Given the description of an element on the screen output the (x, y) to click on. 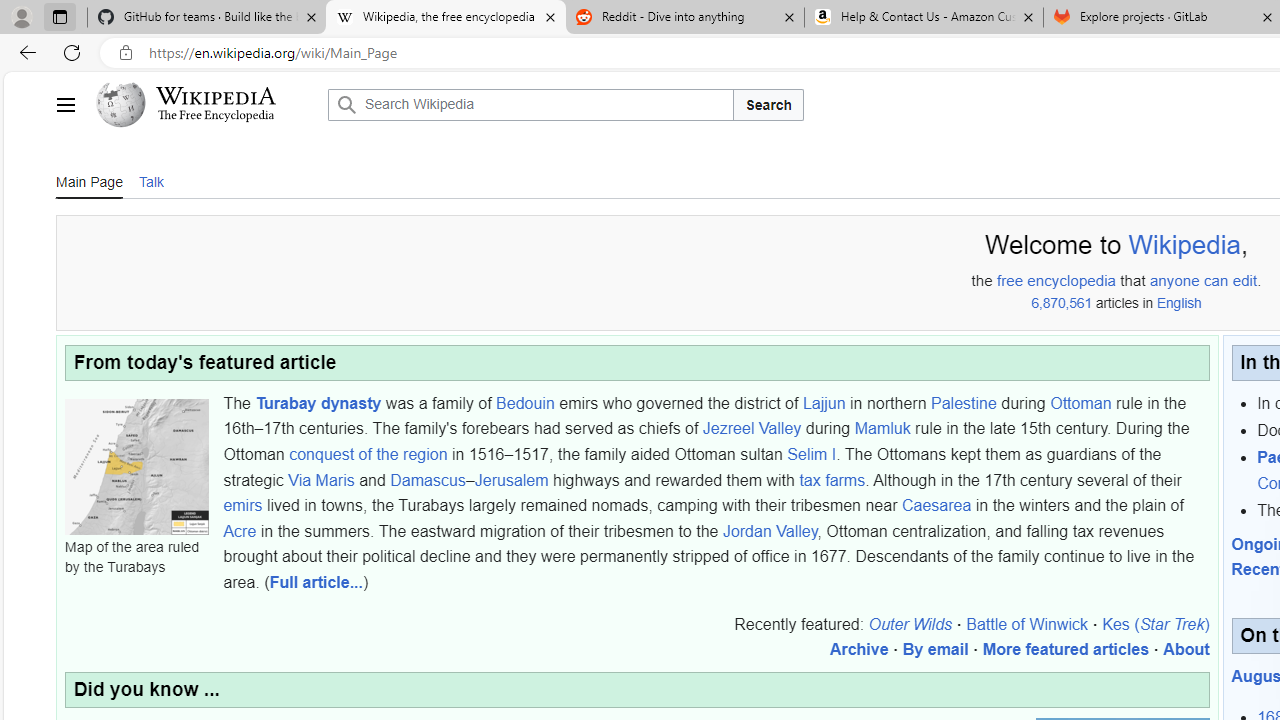
tax farms (832, 479)
6,870,561 (1060, 303)
Jezreel Valley (751, 428)
The Free Encyclopedia (216, 116)
conquest of the region (368, 453)
Bedouin (525, 402)
Map of the area ruled by the Turabays (136, 466)
Main menu (65, 104)
Caesarea (936, 505)
Acre (239, 531)
